Given the description of an element on the screen output the (x, y) to click on. 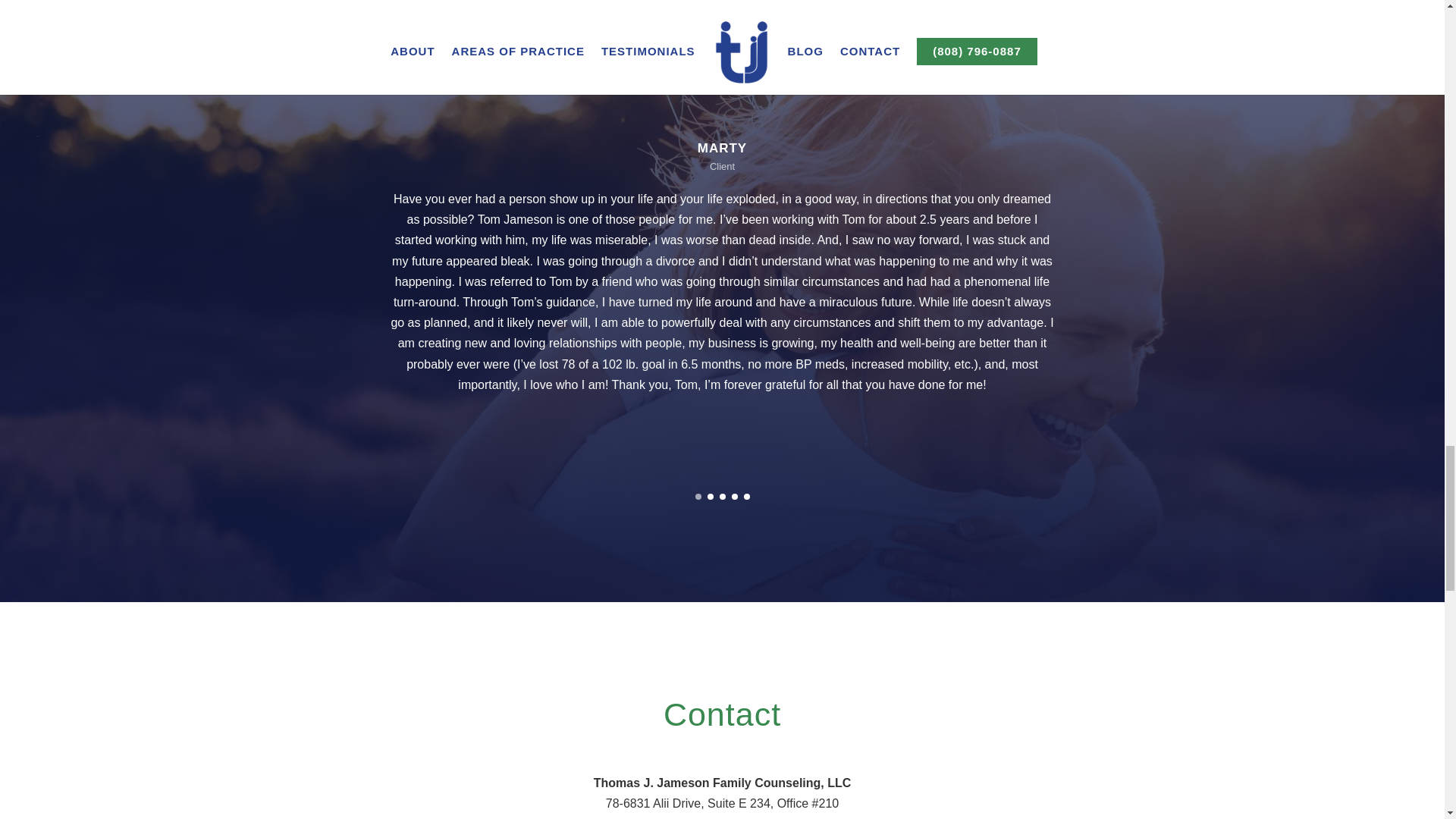
MARTY (721, 147)
